Given the description of an element on the screen output the (x, y) to click on. 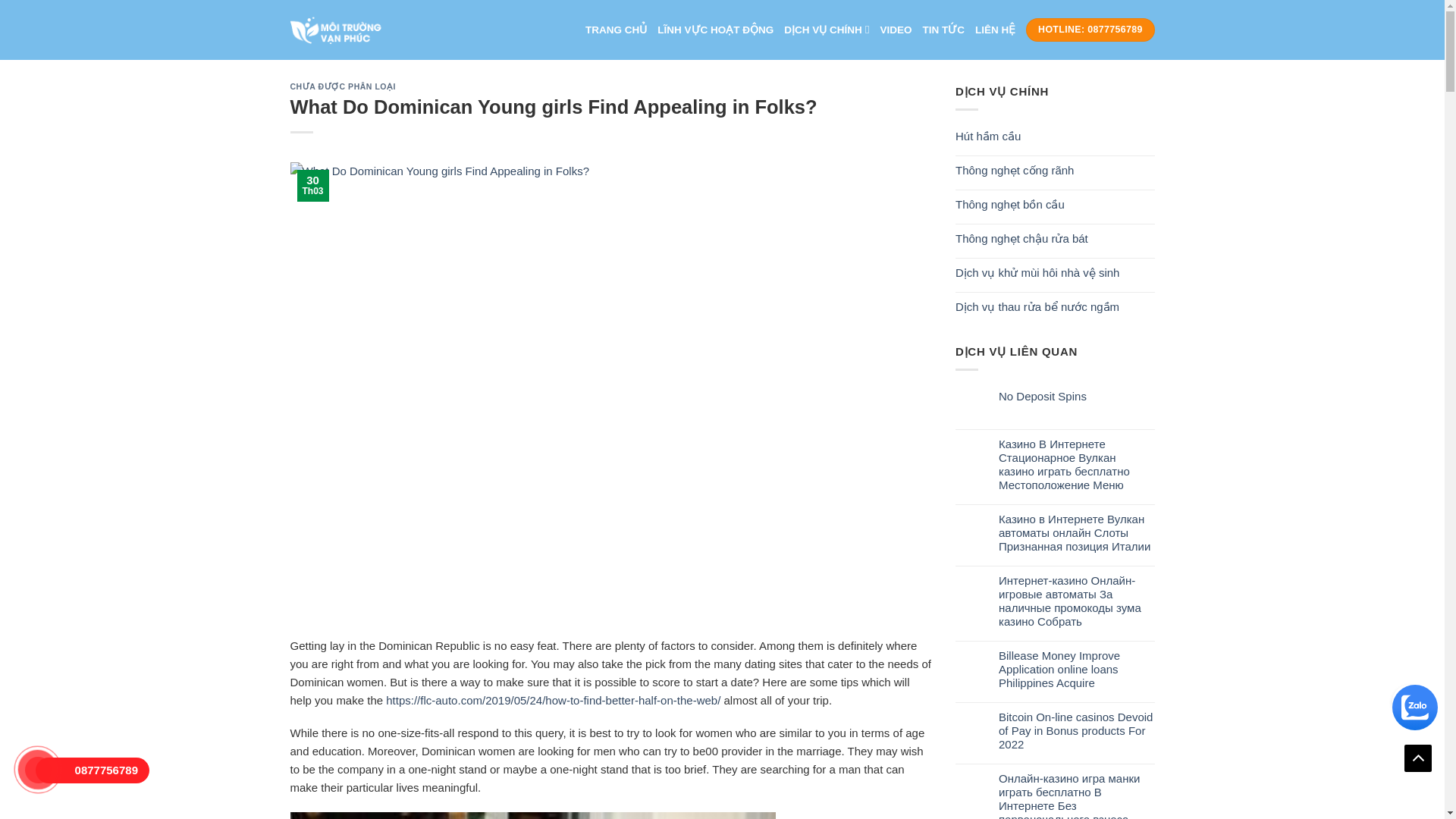
Video (895, 29)
VIDEO (895, 29)
HOTLINE: 0877756789 (1090, 30)
